Given the description of an element on the screen output the (x, y) to click on. 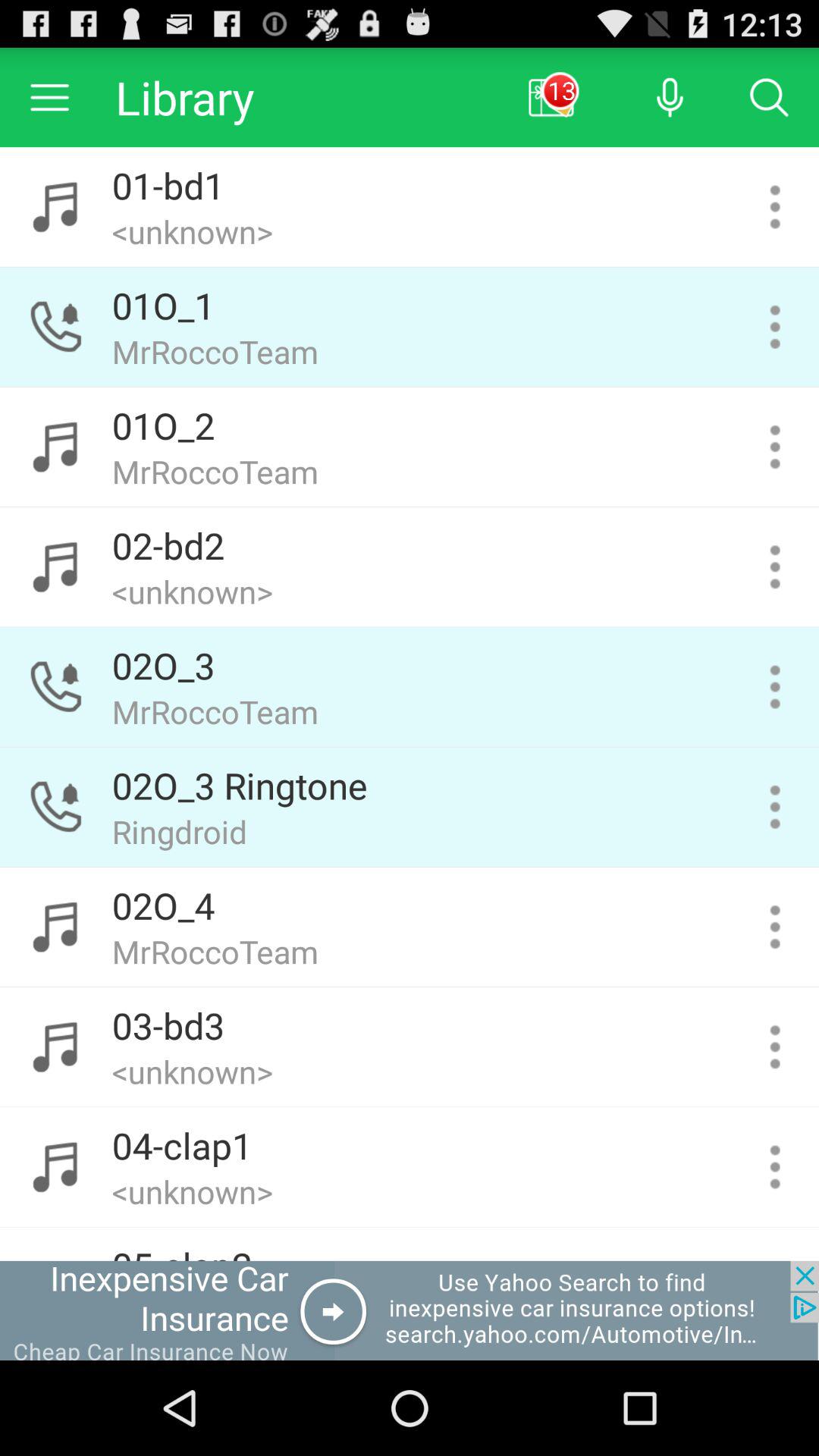
more options (775, 206)
